Given the description of an element on the screen output the (x, y) to click on. 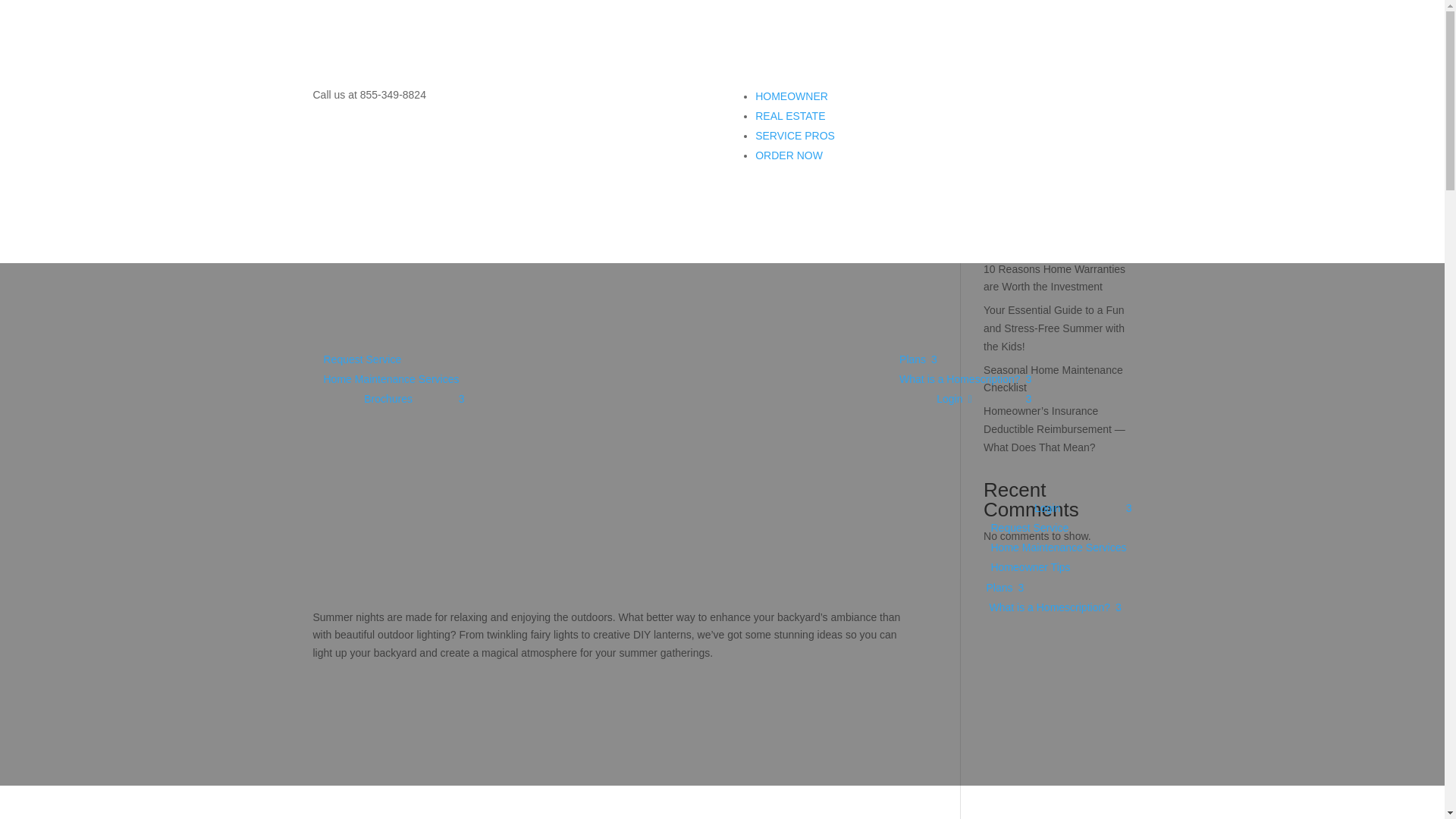
Home Maintenance Services (964, 379)
Request Service (393, 379)
ORDER NOW (393, 359)
SERVICE PROS (788, 155)
HOMEOWNER (964, 359)
REAL ESTATE (794, 135)
Posts by ElevateHomescriptions (791, 96)
